Given the description of an element on the screen output the (x, y) to click on. 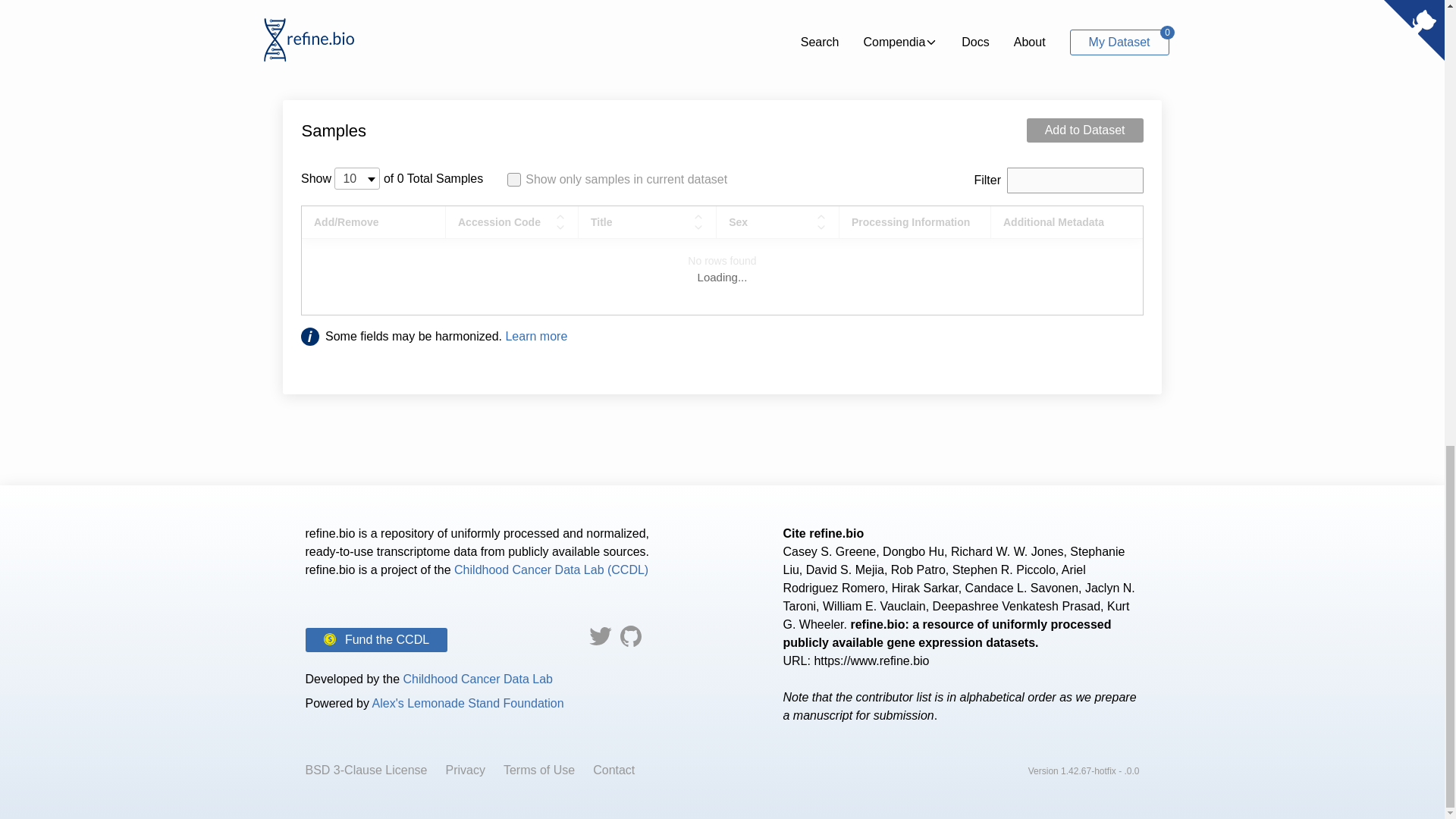
Fund the CCDL (375, 639)
Add to Dataset (1084, 129)
Alex's Lemonade Stand Foundation (468, 703)
Learn more (536, 336)
Childhood Cancer Data Lab (477, 678)
